Given the description of an element on the screen output the (x, y) to click on. 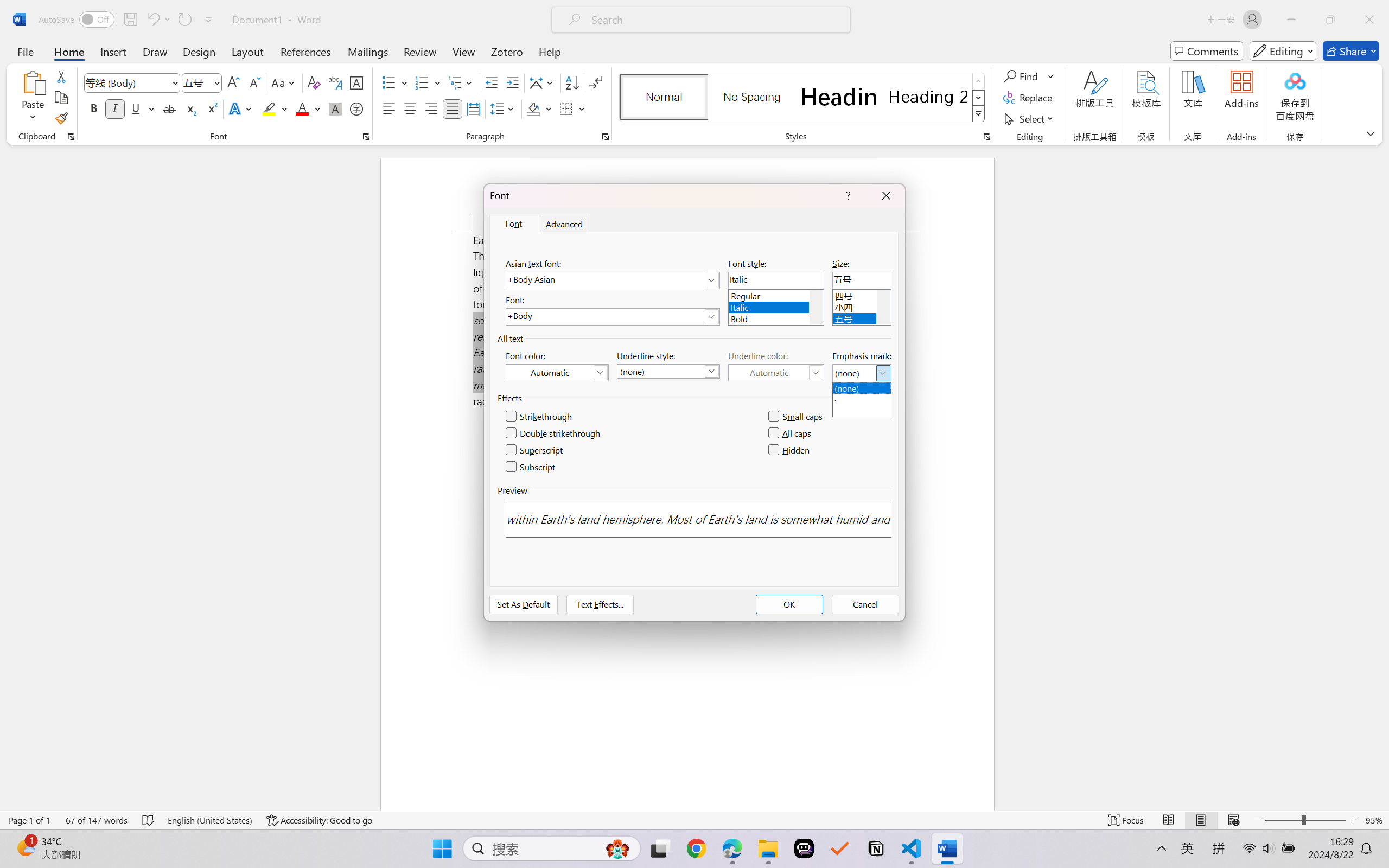
Show/Hide Editing Marks (595, 82)
Shrink Font (253, 82)
Page Number Page 1 of 1 (29, 819)
Font Color (Automatic) (556, 372)
Double strikethrough (553, 433)
RichEdit Control (861, 280)
Heading 1 (839, 96)
Font: (612, 316)
Character Border (356, 82)
